Given the description of an element on the screen output the (x, y) to click on. 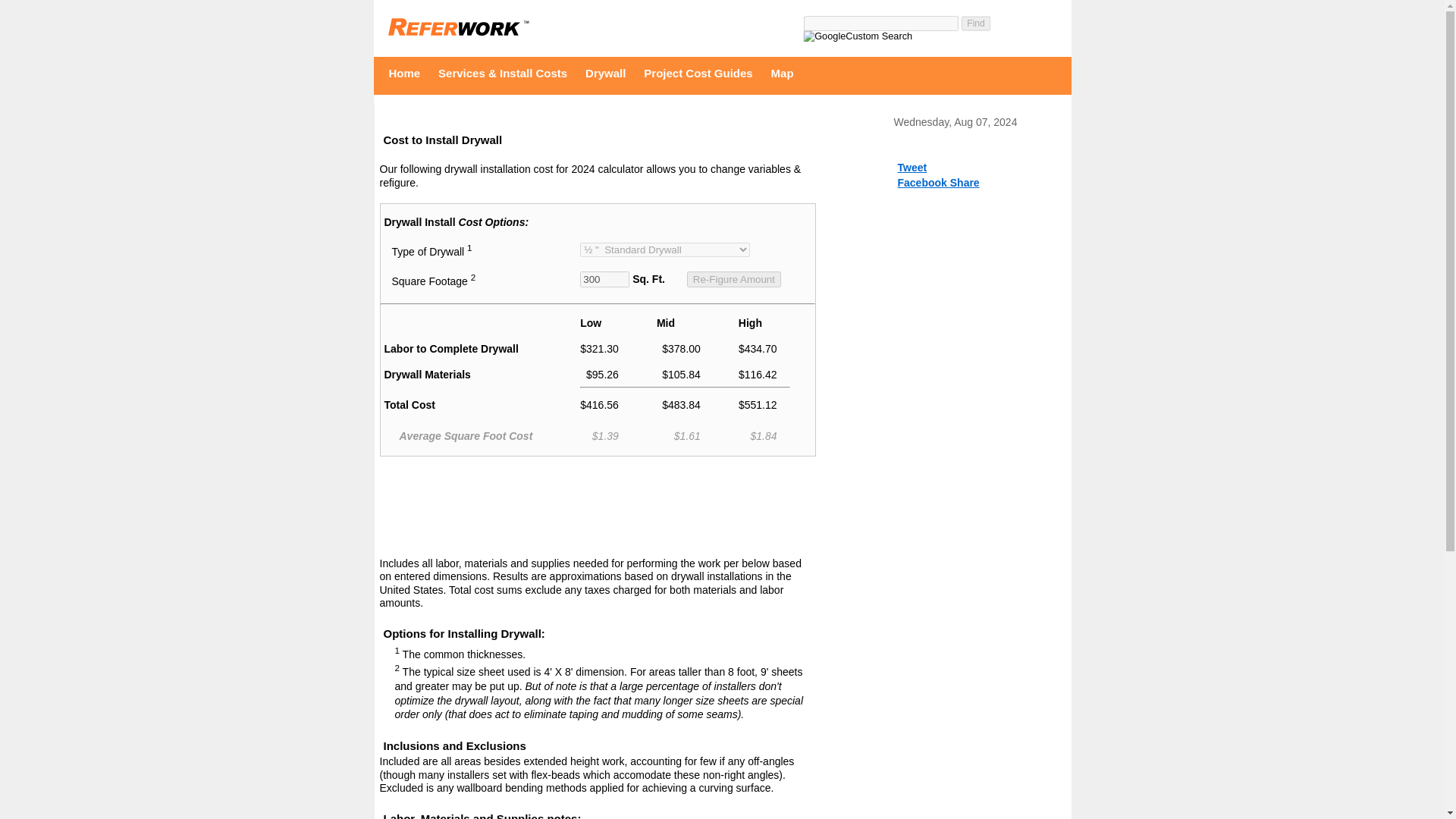
Tweet (912, 167)
Find (976, 23)
Project Cost Guides (701, 72)
Drywall (608, 72)
300 (603, 279)
Home (408, 72)
Advertisement (596, 509)
Map (786, 72)
Facebook Share (938, 182)
Re-Figure Amount (733, 279)
Find (976, 23)
Re-Figure Amount (733, 279)
